Given the description of an element on the screen output the (x, y) to click on. 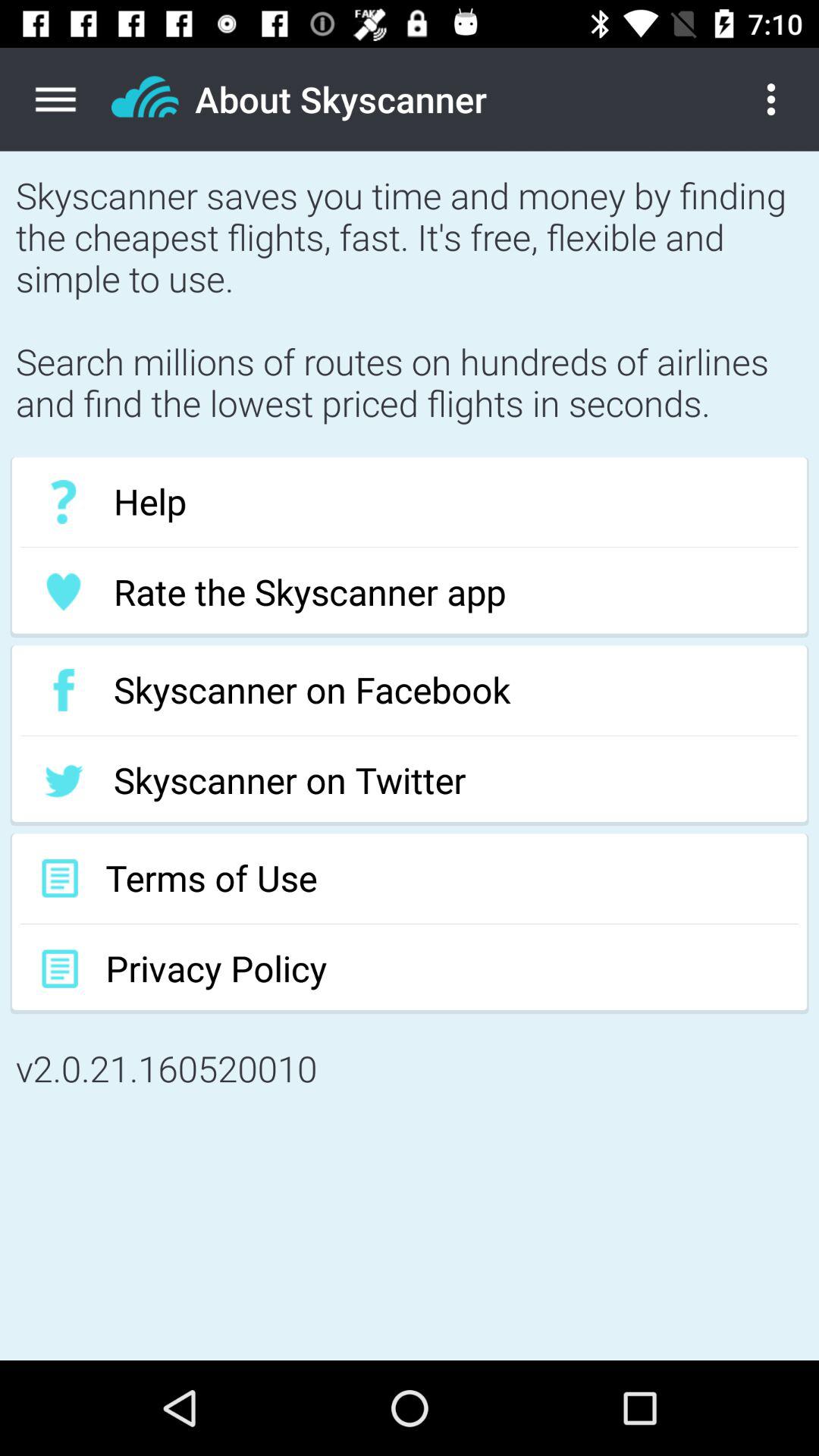
select the item at the top right corner (783, 99)
